Given the description of an element on the screen output the (x, y) to click on. 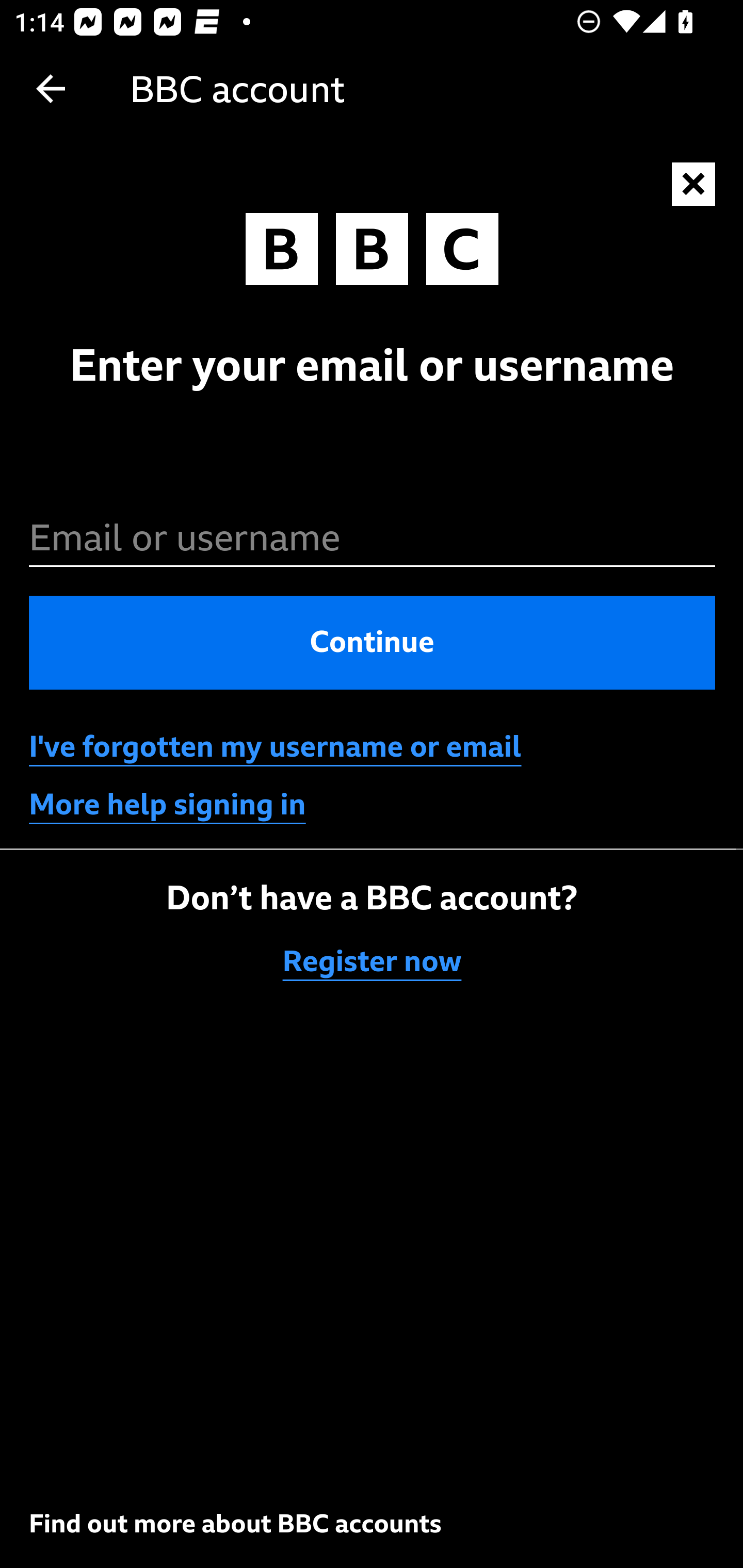
Close and return to where you originally came from (694, 184)
Continue (372, 641)
I've forgotten my username or email (274, 747)
More help signing in (167, 805)
Register now (372, 960)
Find out more about BBC accounts (235, 1522)
